Given the description of an element on the screen output the (x, y) to click on. 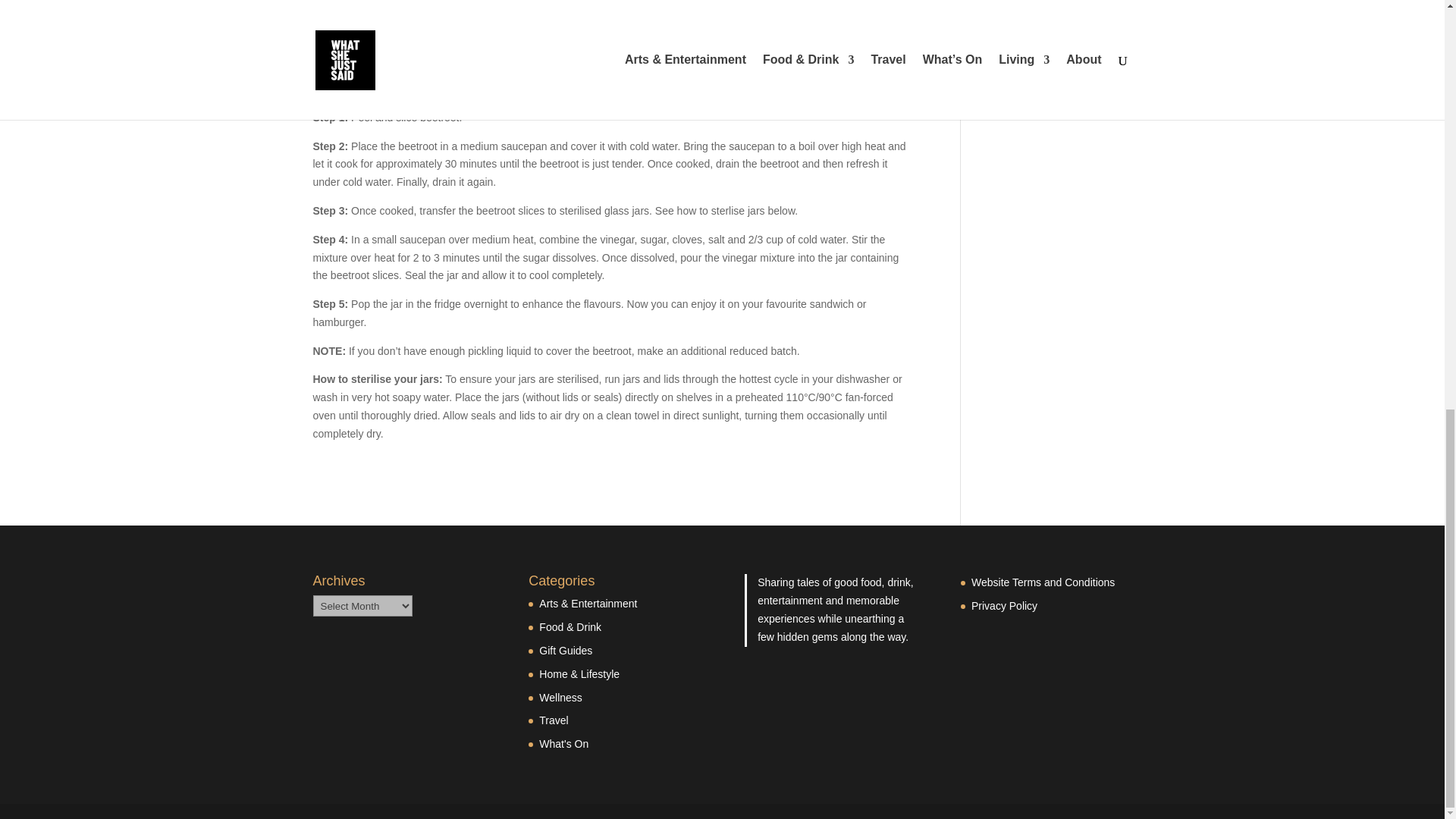
Travel (552, 720)
What's On (563, 743)
Wellness (560, 697)
Gift Guides (565, 650)
